Given the description of an element on the screen output the (x, y) to click on. 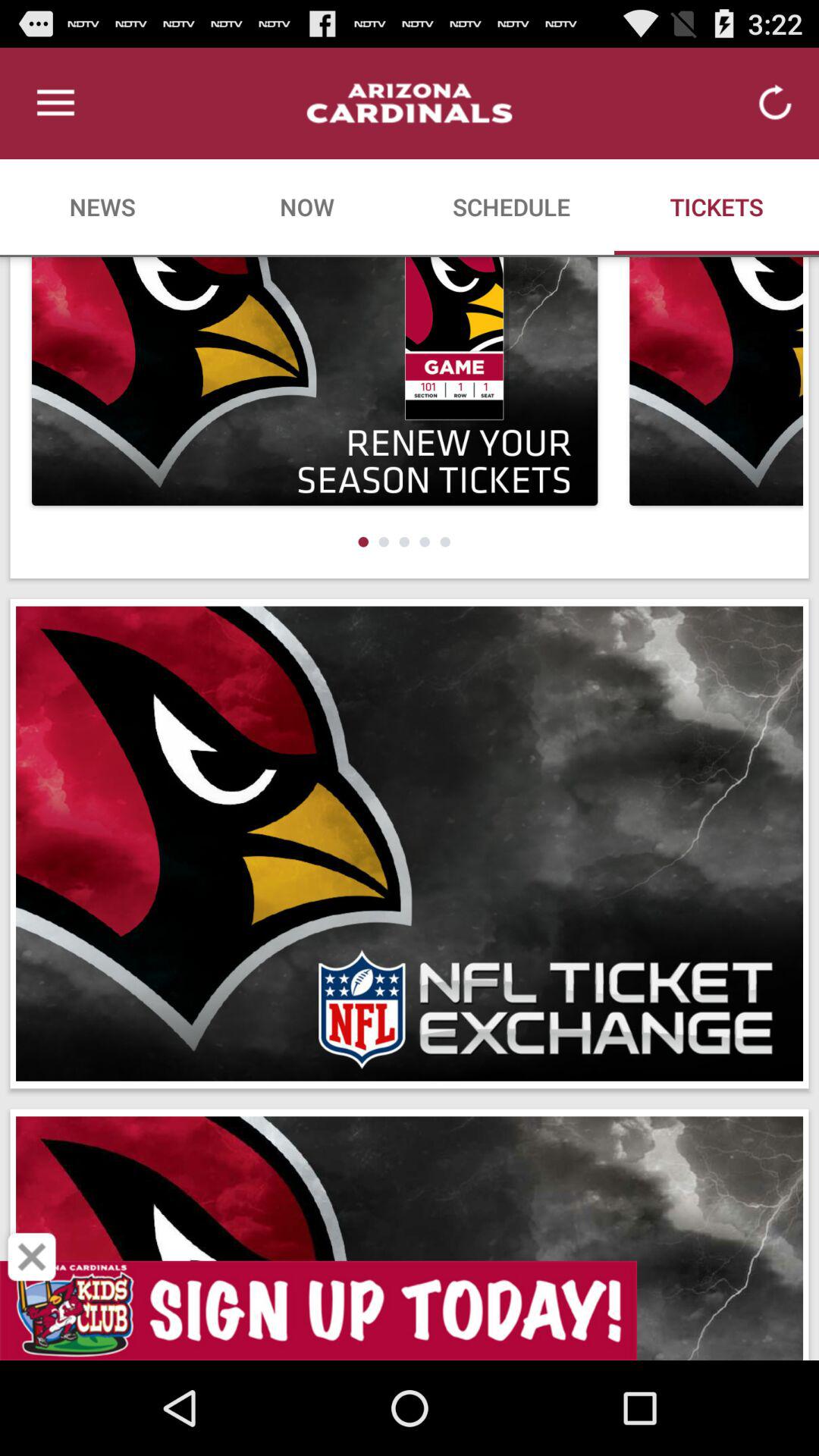
close pop up advertisement option (31, 1256)
